Given the description of an element on the screen output the (x, y) to click on. 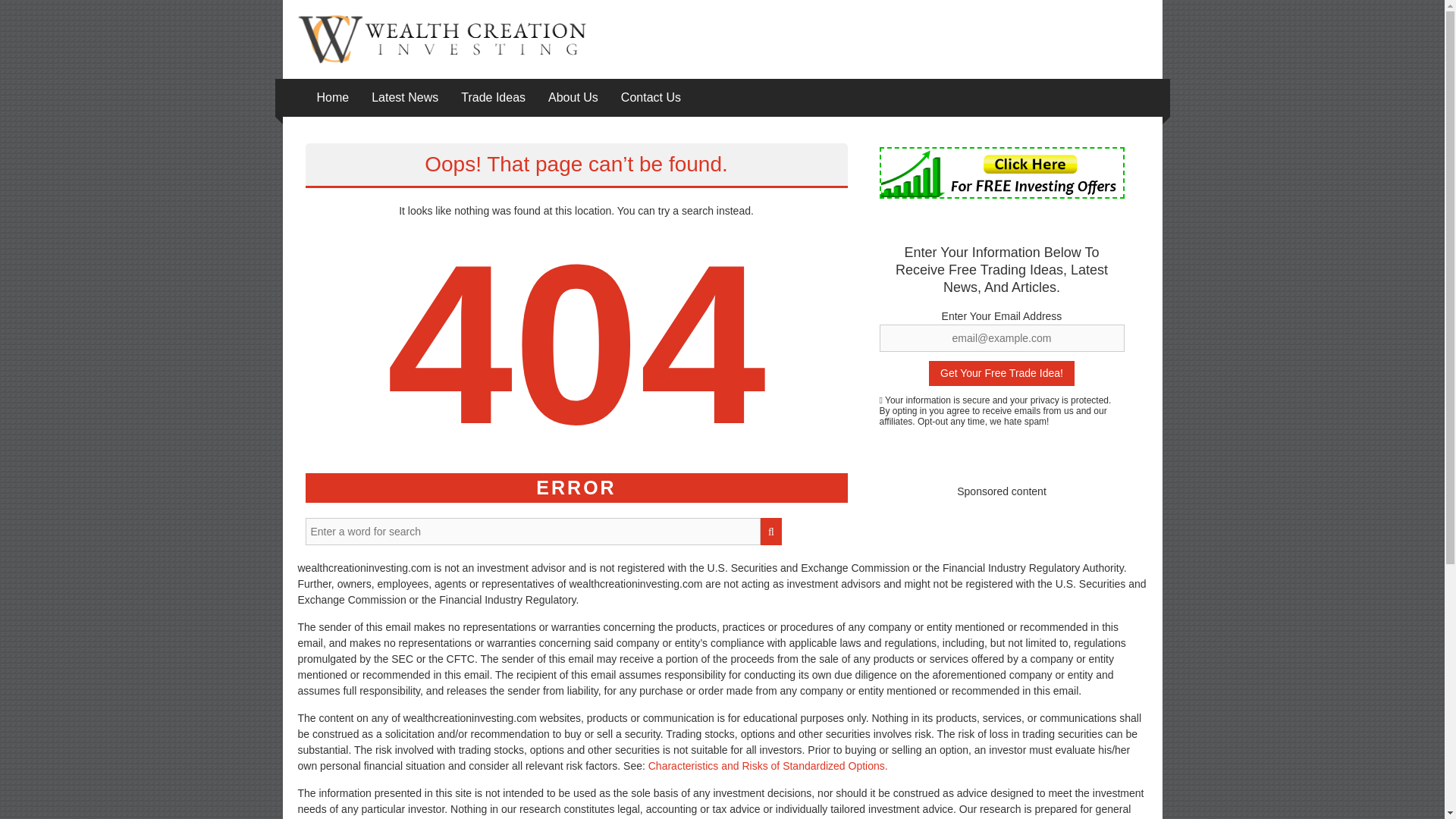
Latest News (404, 97)
Get Your Free Trade Idea! (1001, 373)
About Us (573, 97)
Trade Ideas (493, 97)
Contact Us (651, 97)
Characteristics and Risks of Standardized Options. (767, 766)
